Given the description of an element on the screen output the (x, y) to click on. 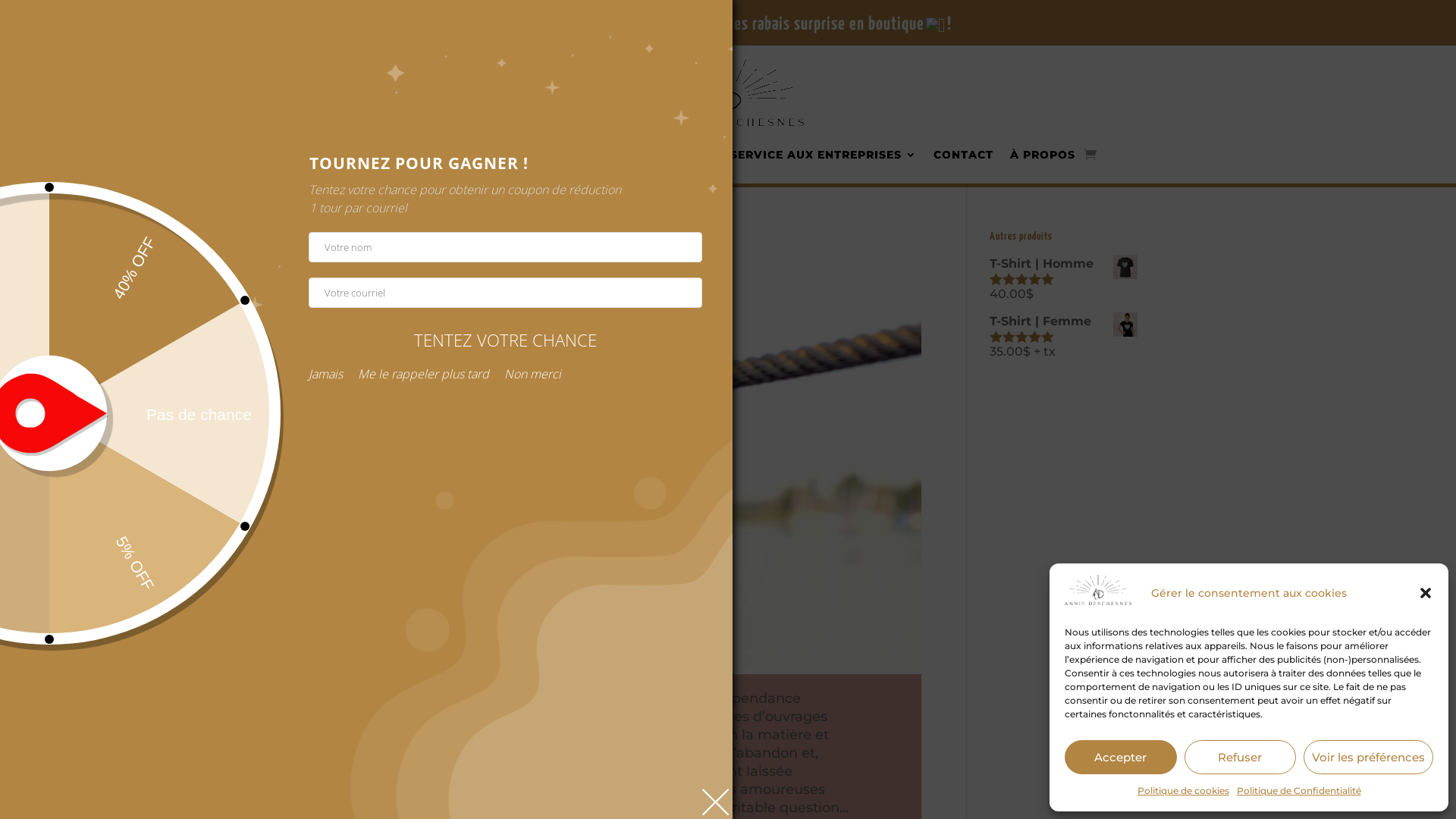
Refuser Element type: text (1240, 757)
1 commentaire Element type: text (548, 266)
CONTACT Element type: text (962, 154)
blogue Element type: text (479, 266)
Politique de cookies Element type: text (1183, 790)
Editeur Element type: text (359, 266)
Accepter Element type: text (1120, 757)
T-Shirt | Homme Element type: text (1063, 263)
T-Shirt | Femme Element type: text (1063, 321)
SERVICE AUX ENTREPRISES Element type: text (822, 154)
MAGASINEZ MAINTENANT Element type: text (623, 154)
